Given the description of an element on the screen output the (x, y) to click on. 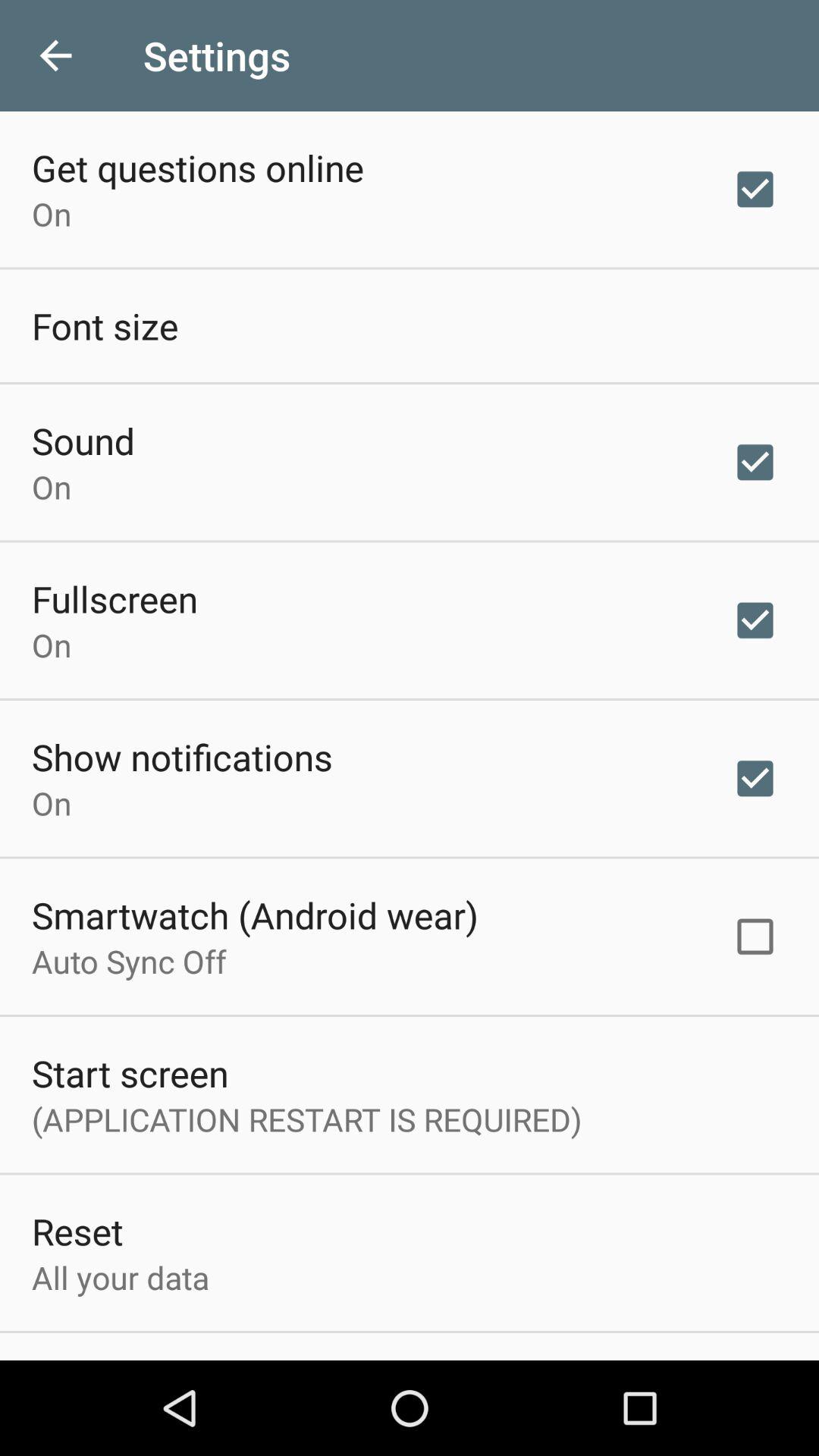
click the start screen item (129, 1072)
